Given the description of an element on the screen output the (x, y) to click on. 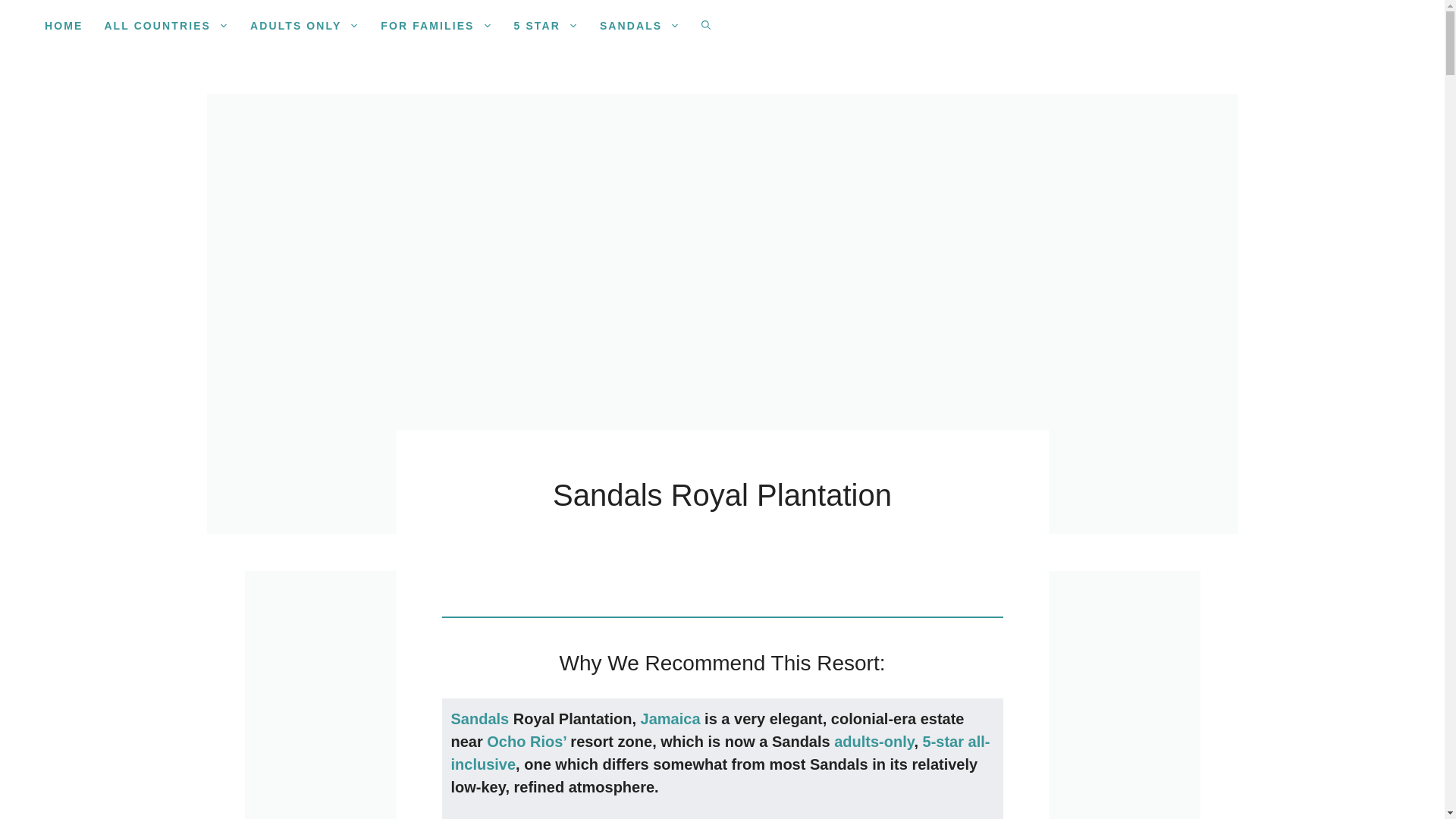
HOME (63, 25)
ALL COUNTRIES (166, 25)
